Given the description of an element on the screen output the (x, y) to click on. 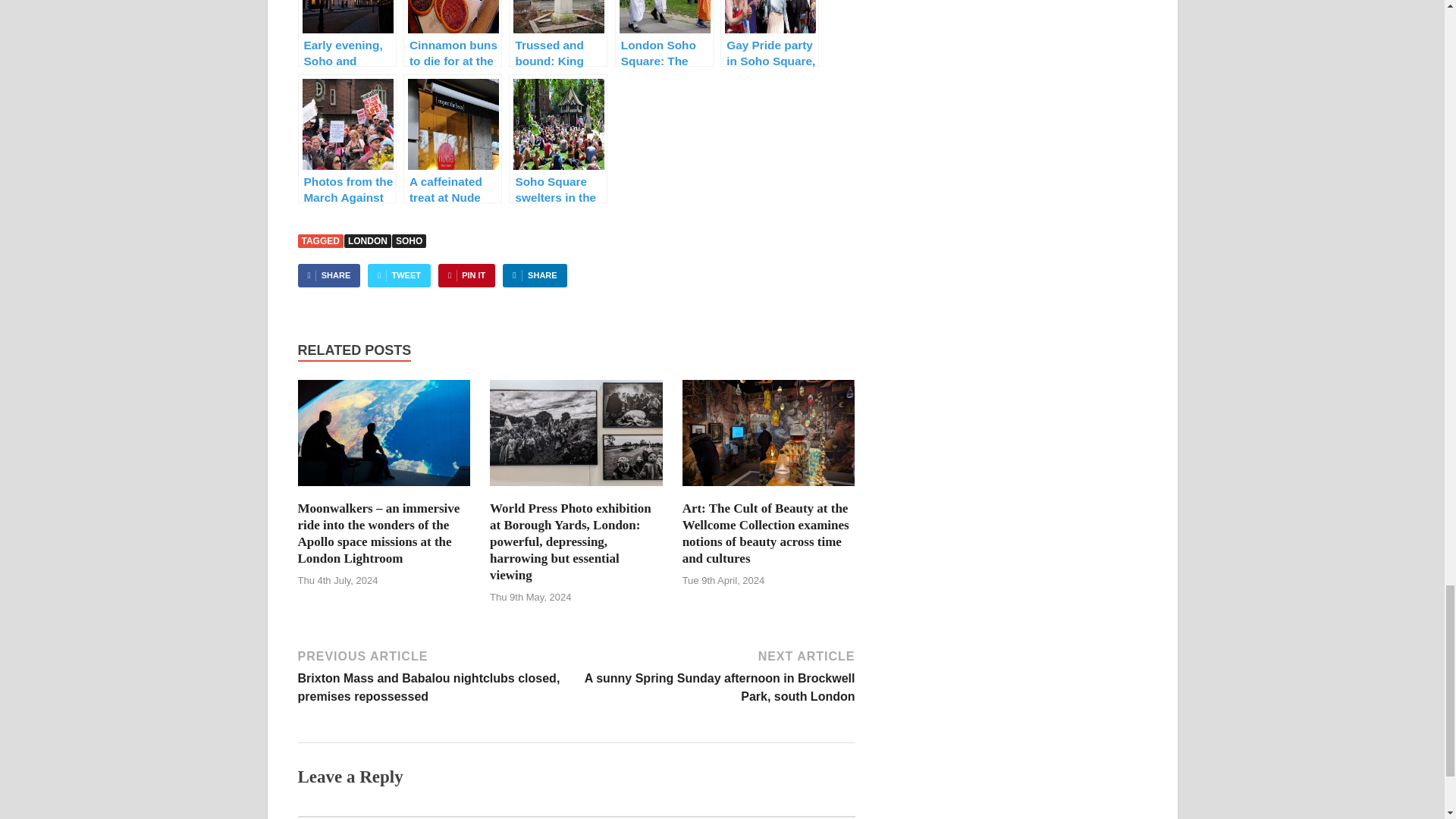
London Soho Square: The Hari Krishna guys go electric (663, 33)
Early evening, Soho and Bedford Square (346, 33)
Trussed and bound: King George II at Golden Square, London (557, 33)
